Given the description of an element on the screen output the (x, y) to click on. 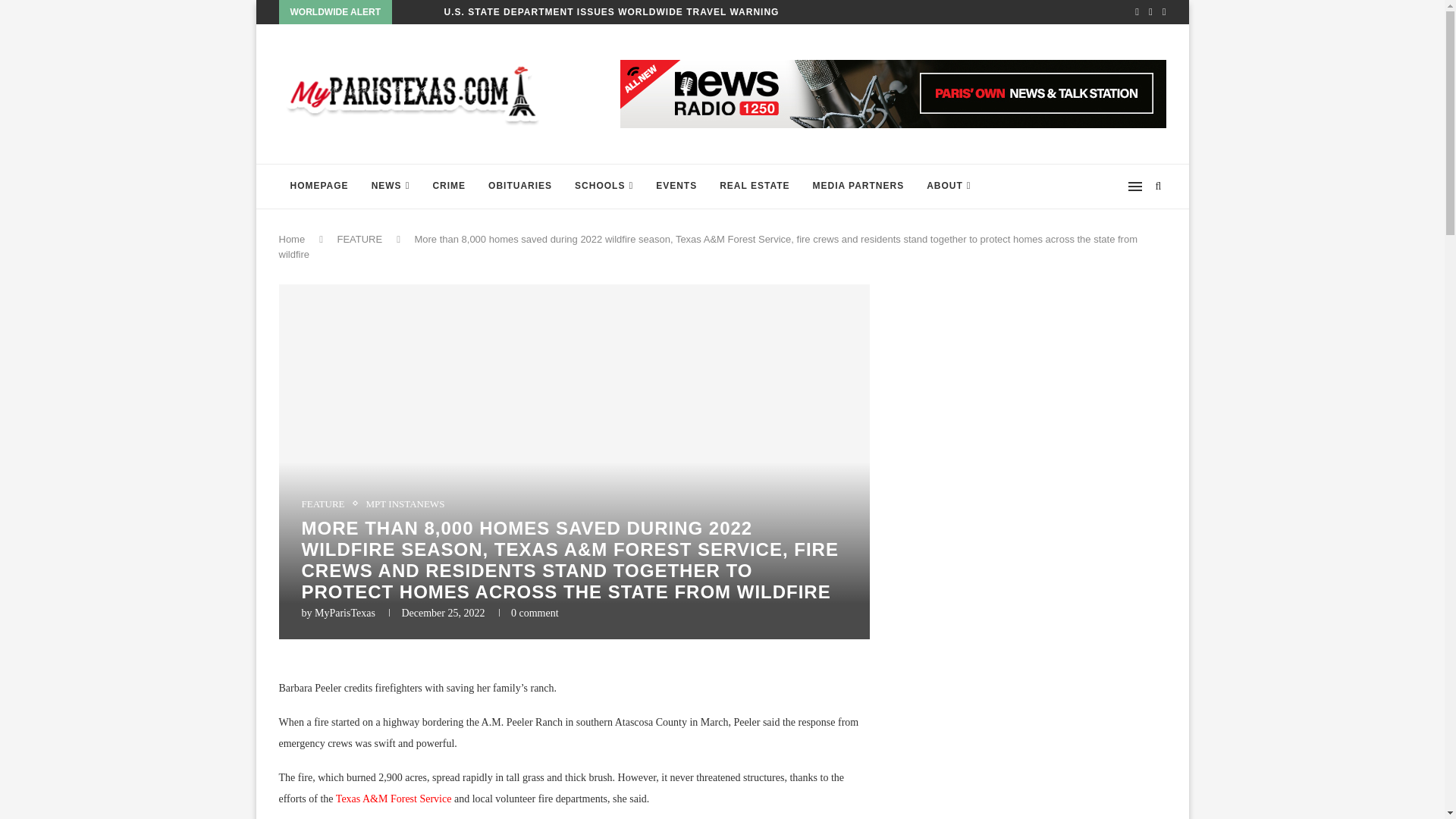
HOMEPAGE (319, 186)
NEWS (390, 186)
U.S. STATE DEPARTMENT ISSUES WORLDWIDE TRAVEL WARNING (611, 12)
